Given the description of an element on the screen output the (x, y) to click on. 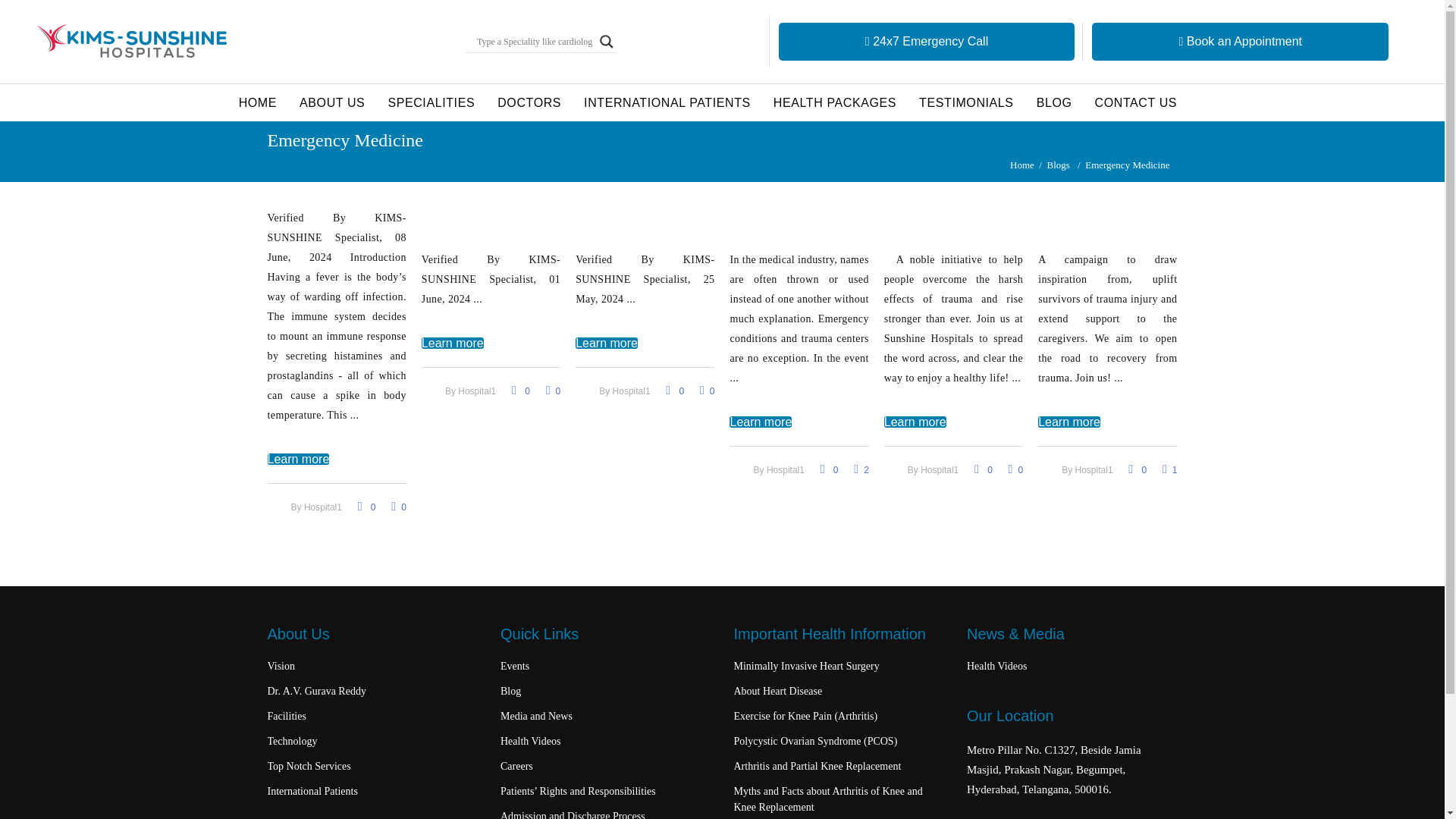
Like this (861, 470)
SPECIALITIES (430, 102)
Like this (707, 391)
ABOUT US (331, 102)
Like this (398, 507)
Like this (553, 391)
HOME (257, 102)
Like this (1016, 470)
